Given the description of an element on the screen output the (x, y) to click on. 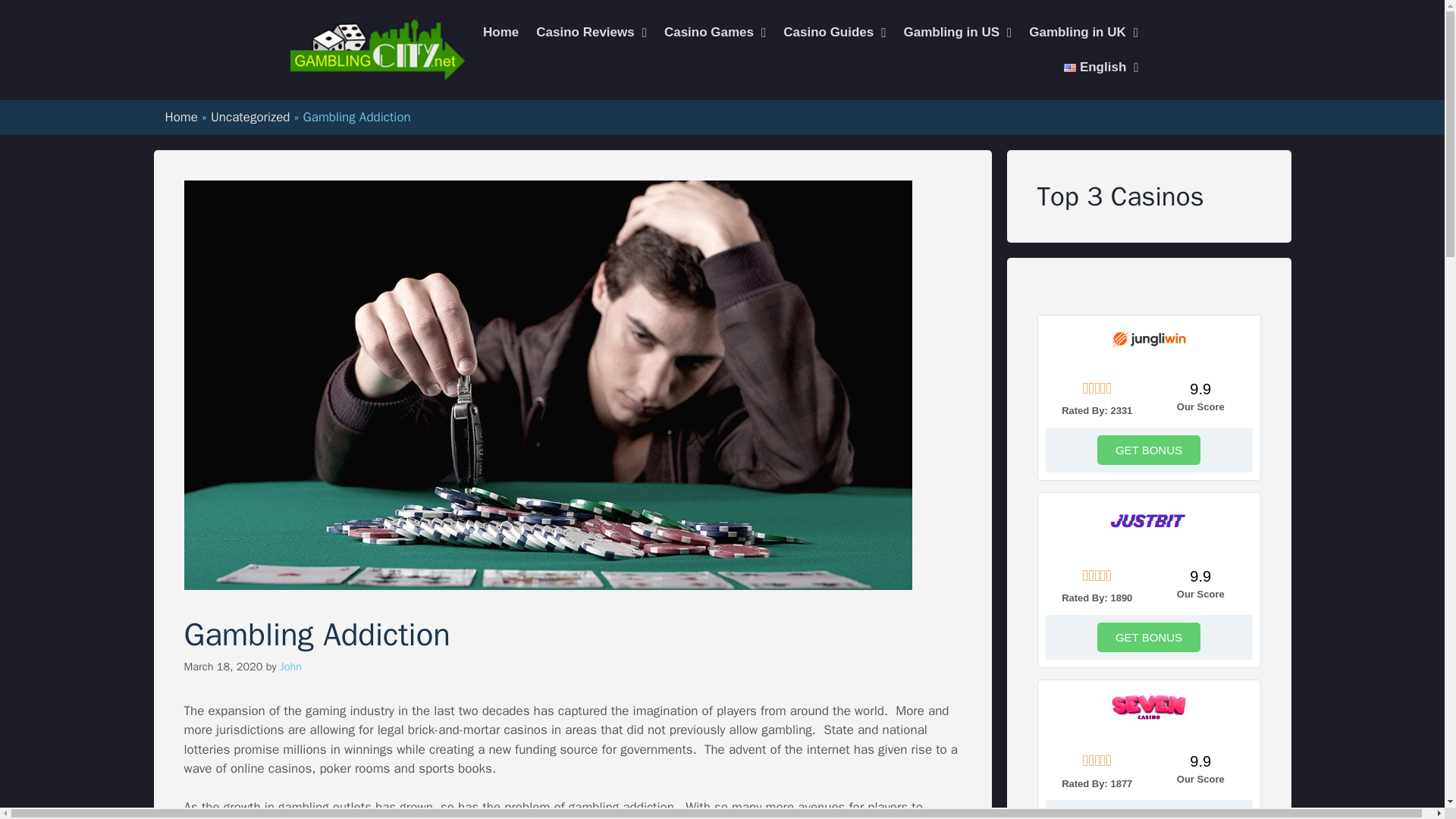
Home (500, 32)
Gambling in US (957, 32)
Casino Guides (833, 32)
View all posts by John (290, 666)
Casino Games (715, 32)
Casino Reviews (591, 32)
